Given the description of an element on the screen output the (x, y) to click on. 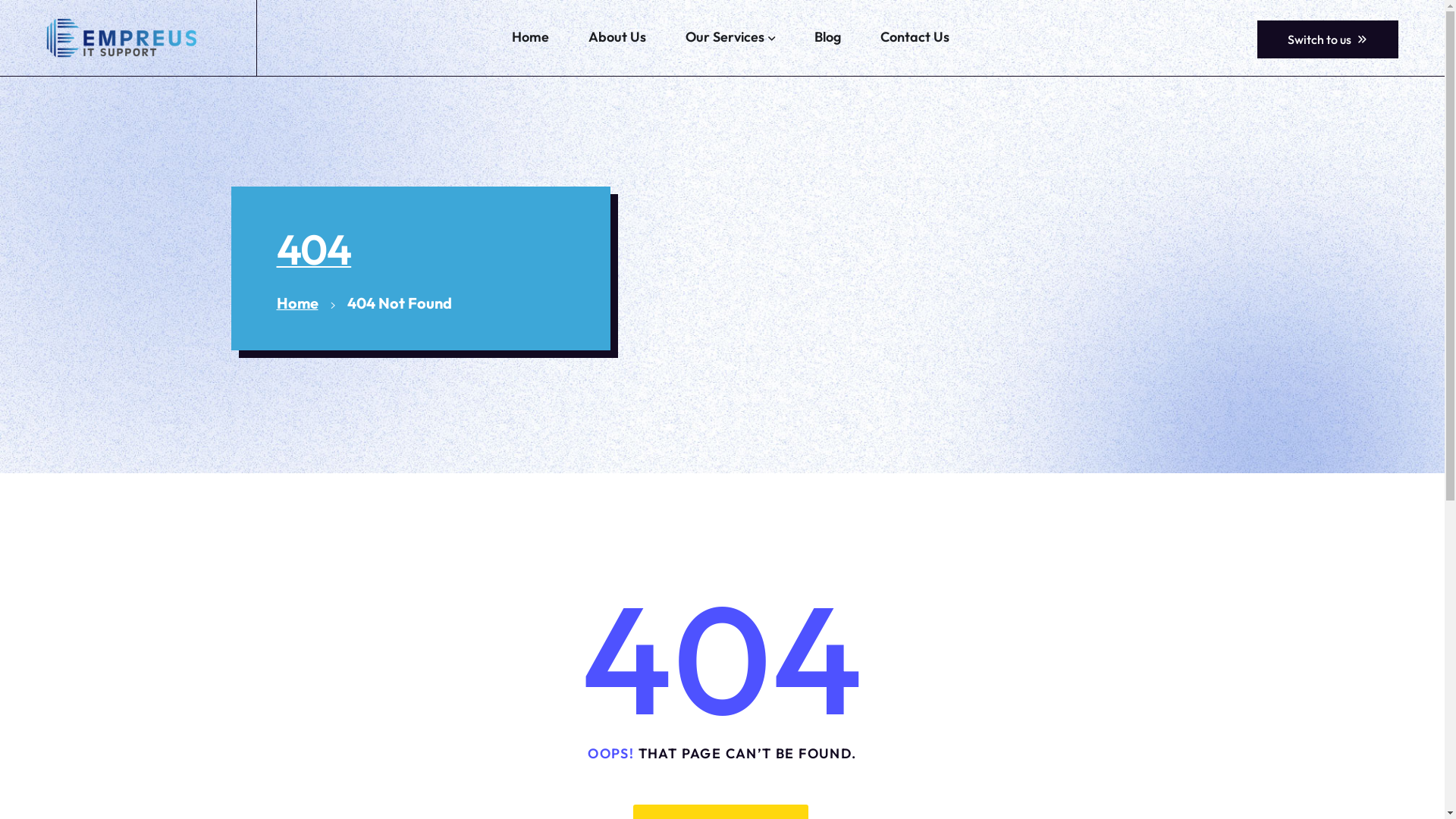
Our Services Element type: text (730, 37)
Blog Element type: text (827, 36)
Home Element type: text (296, 302)
About Us Element type: text (617, 36)
Switch to us Element type: text (1327, 39)
Home Element type: text (530, 36)
Contact Us Element type: text (914, 36)
Empreus IT Element type: hover (121, 38)
